Given the description of an element on the screen output the (x, y) to click on. 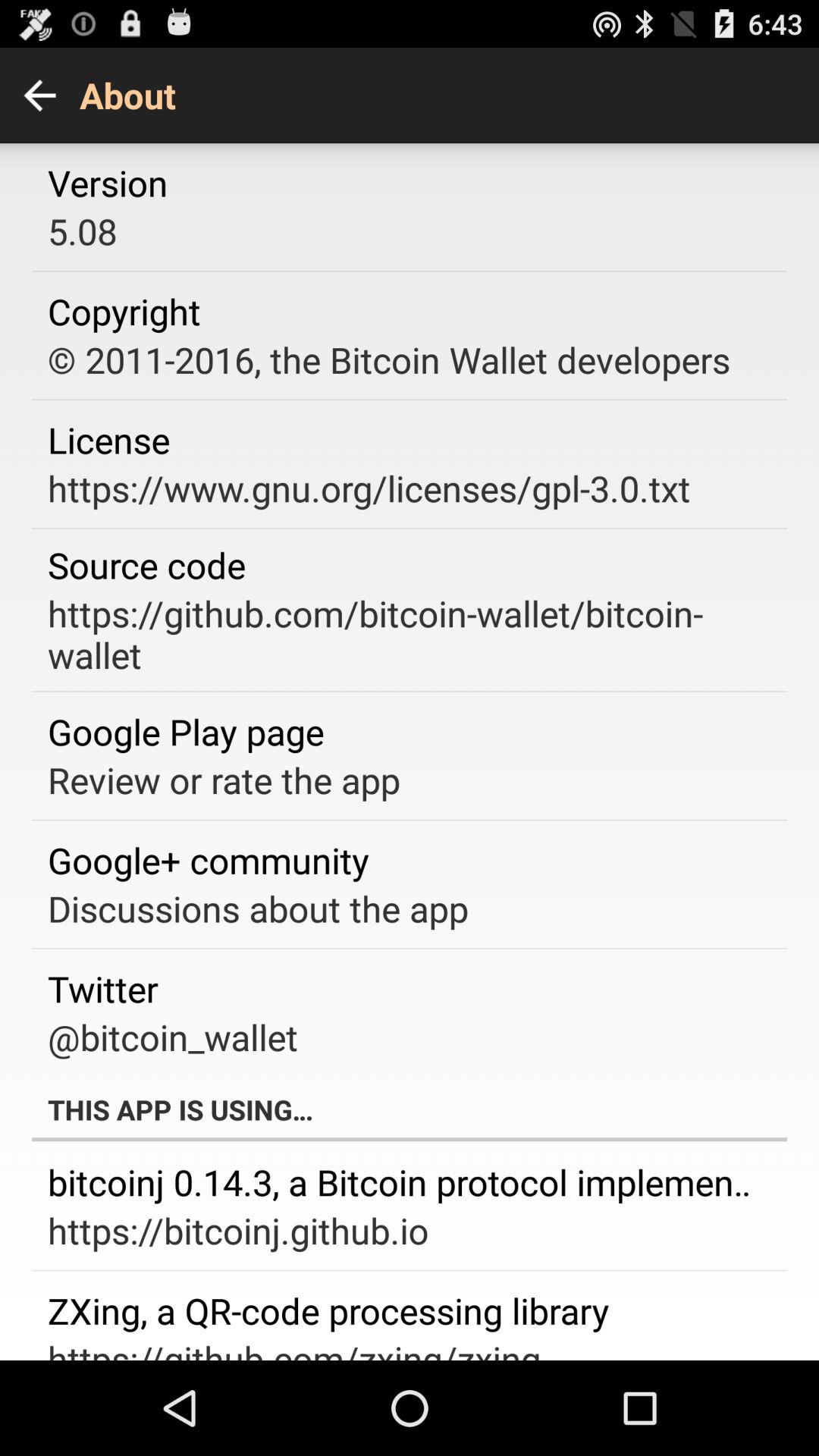
click the google+ community app (208, 860)
